Given the description of an element on the screen output the (x, y) to click on. 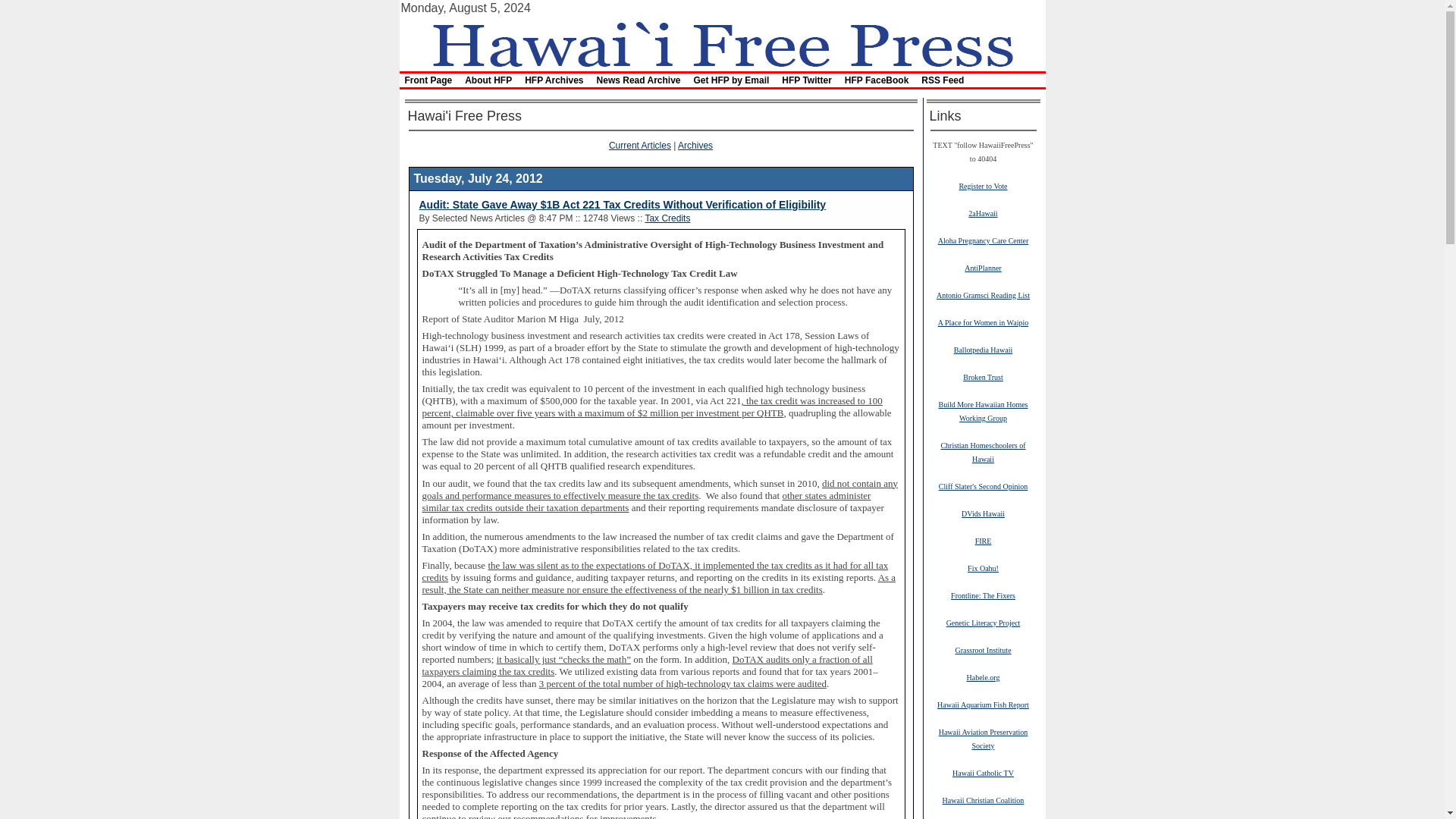
Broken Trust (982, 376)
A Place for Women in Waipio (982, 321)
DVids Hawaii (982, 512)
Cliff Slater's Second Opinion (983, 485)
FIRE (983, 540)
Hawaii Aquarium Fish Report (983, 704)
Archives (695, 145)
Hawaii Catholic TV (982, 772)
Genetic Literacy Project (983, 622)
Ballotpedia Hawaii (982, 348)
